Given the description of an element on the screen output the (x, y) to click on. 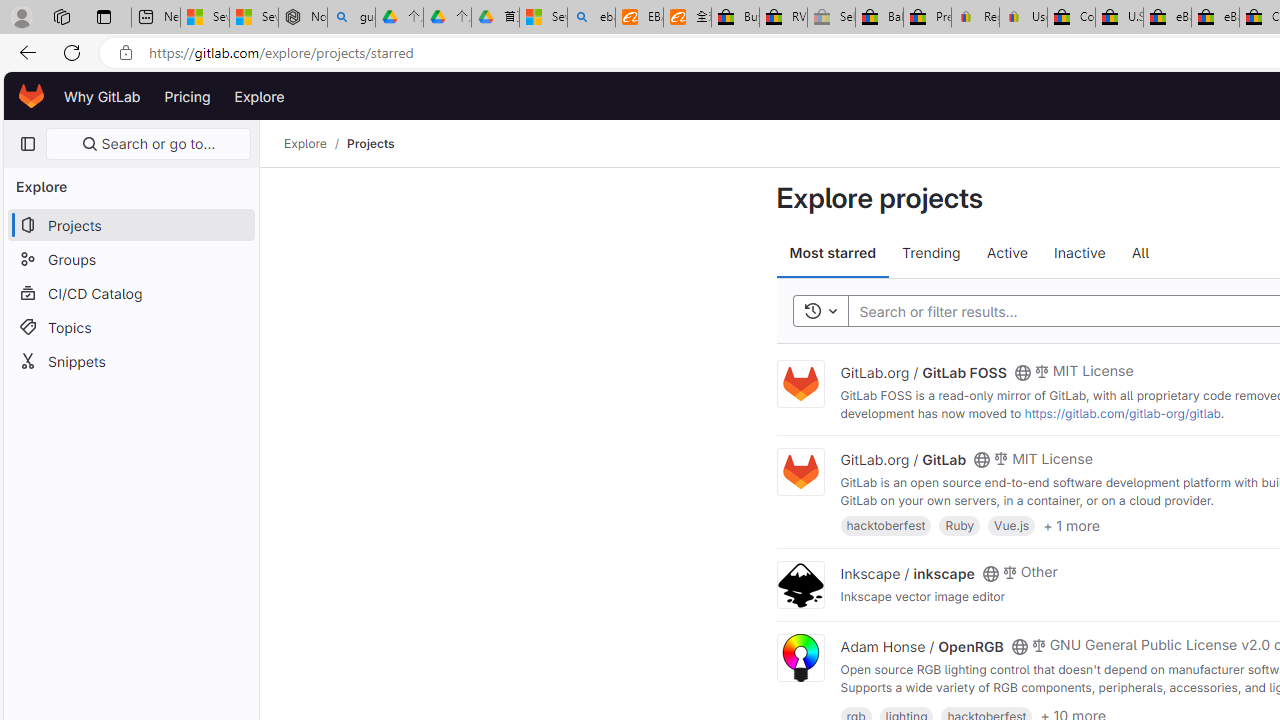
Why GitLab (102, 95)
Vue.js (1011, 524)
hacktoberfest (885, 524)
Class: project (800, 658)
Explore (305, 143)
Projects (370, 143)
https://openrgb.org (1010, 704)
https://gitlab.com/gitlab-org/gitlab (1122, 412)
Consumer Health Data Privacy Policy - eBay Inc. (1071, 17)
ebay - Search (591, 17)
